Given the description of an element on the screen output the (x, y) to click on. 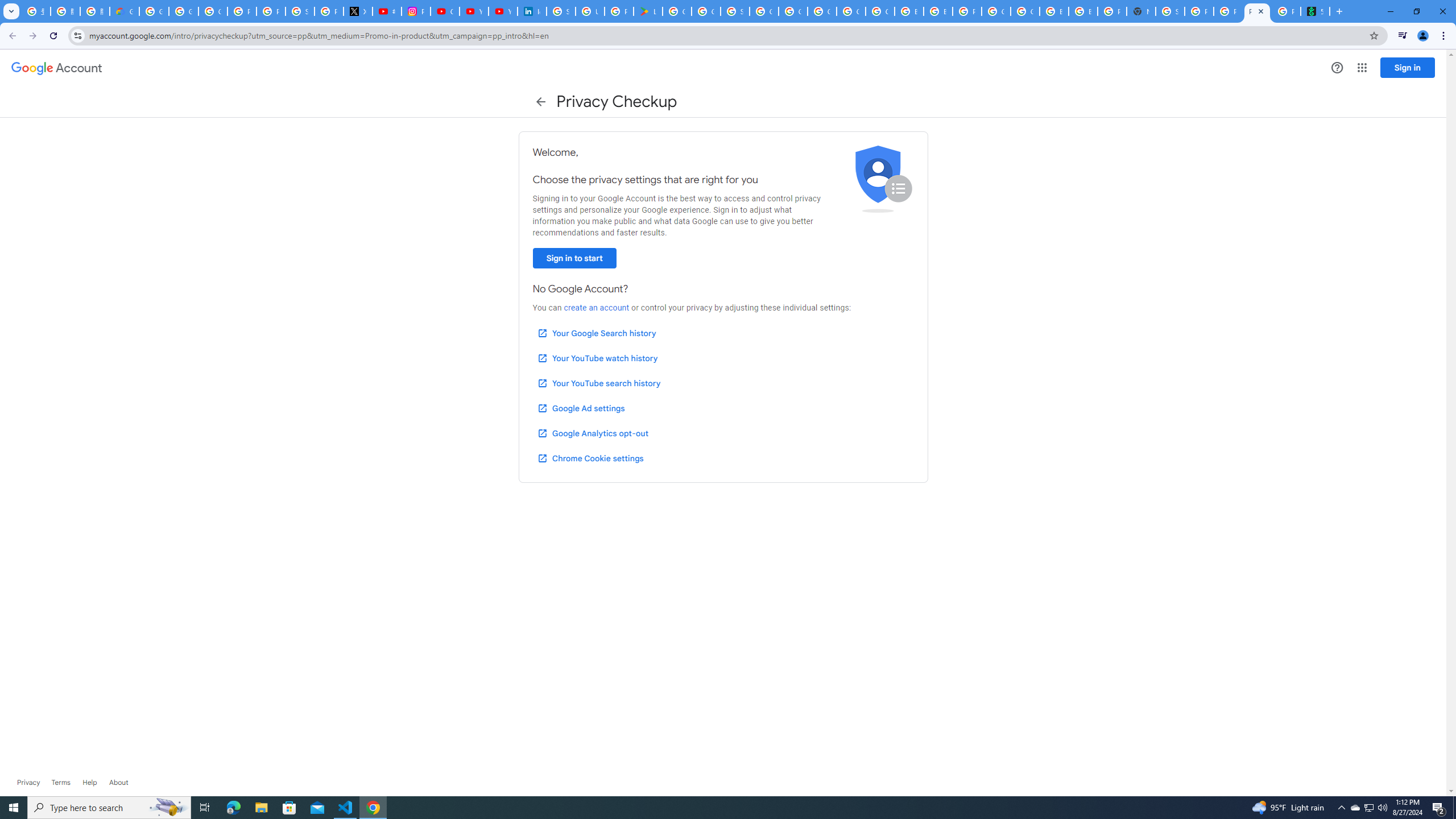
Google Cloud Platform (1025, 11)
Sign in to start (573, 258)
Browse Chrome as a guest - Computer - Google Chrome Help (908, 11)
Your Google Search history (596, 332)
Your YouTube search history (598, 383)
Chrome Cookie settings (589, 457)
Browse Chrome as a guest - Computer - Google Chrome Help (1054, 11)
Privacy Checkup (1227, 11)
Google Workspace - Specific Terms (705, 11)
